Given the description of an element on the screen output the (x, y) to click on. 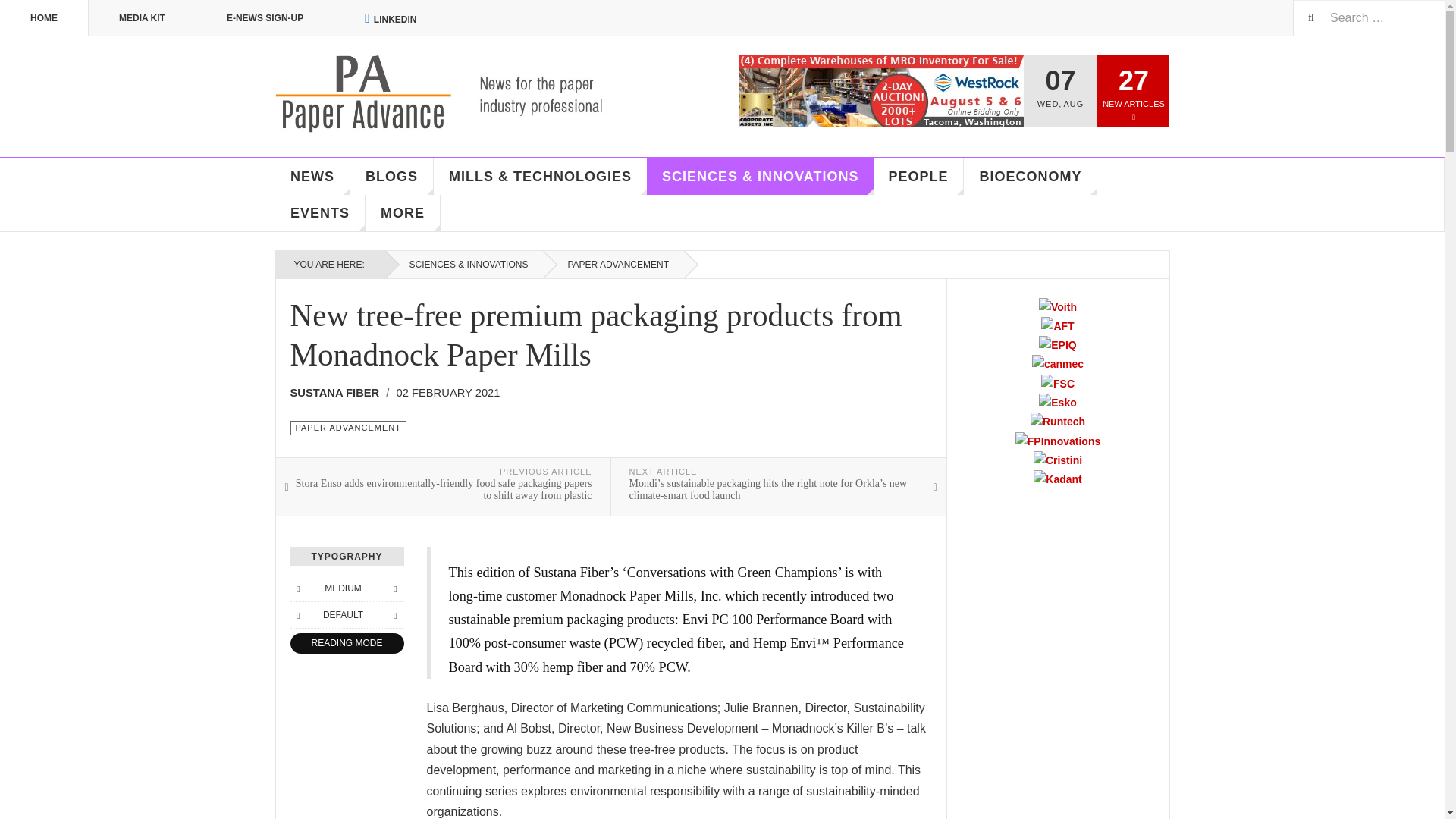
HOME (44, 18)
LINKEDIN (390, 18)
E-NEWS SIGN-UP (265, 18)
NEWS (312, 176)
MEDIA KIT (142, 18)
Paper Advance (461, 93)
